Given the description of an element on the screen output the (x, y) to click on. 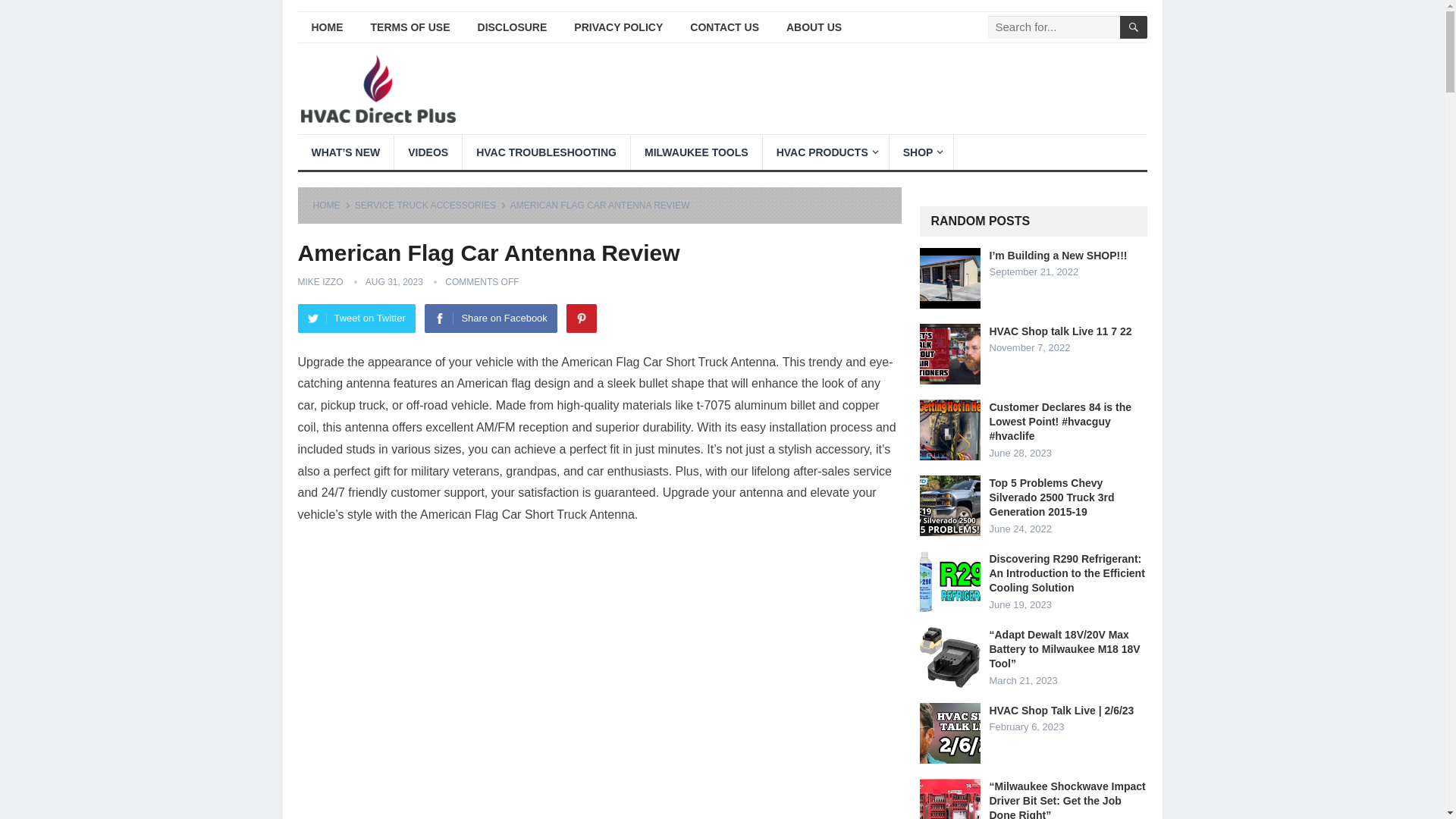
HVAC PRODUCTS (825, 152)
View all posts in Service Truck Accessories (430, 204)
TERMS OF USE (409, 27)
Posts by Mike Izzo (319, 281)
MIKE IZZO (319, 281)
SERVICE TRUCK ACCESSORIES (430, 204)
Pinterest (581, 317)
HOME (326, 27)
ABOUT US (814, 27)
PRIVACY POLICY (618, 27)
